Given the description of an element on the screen output the (x, y) to click on. 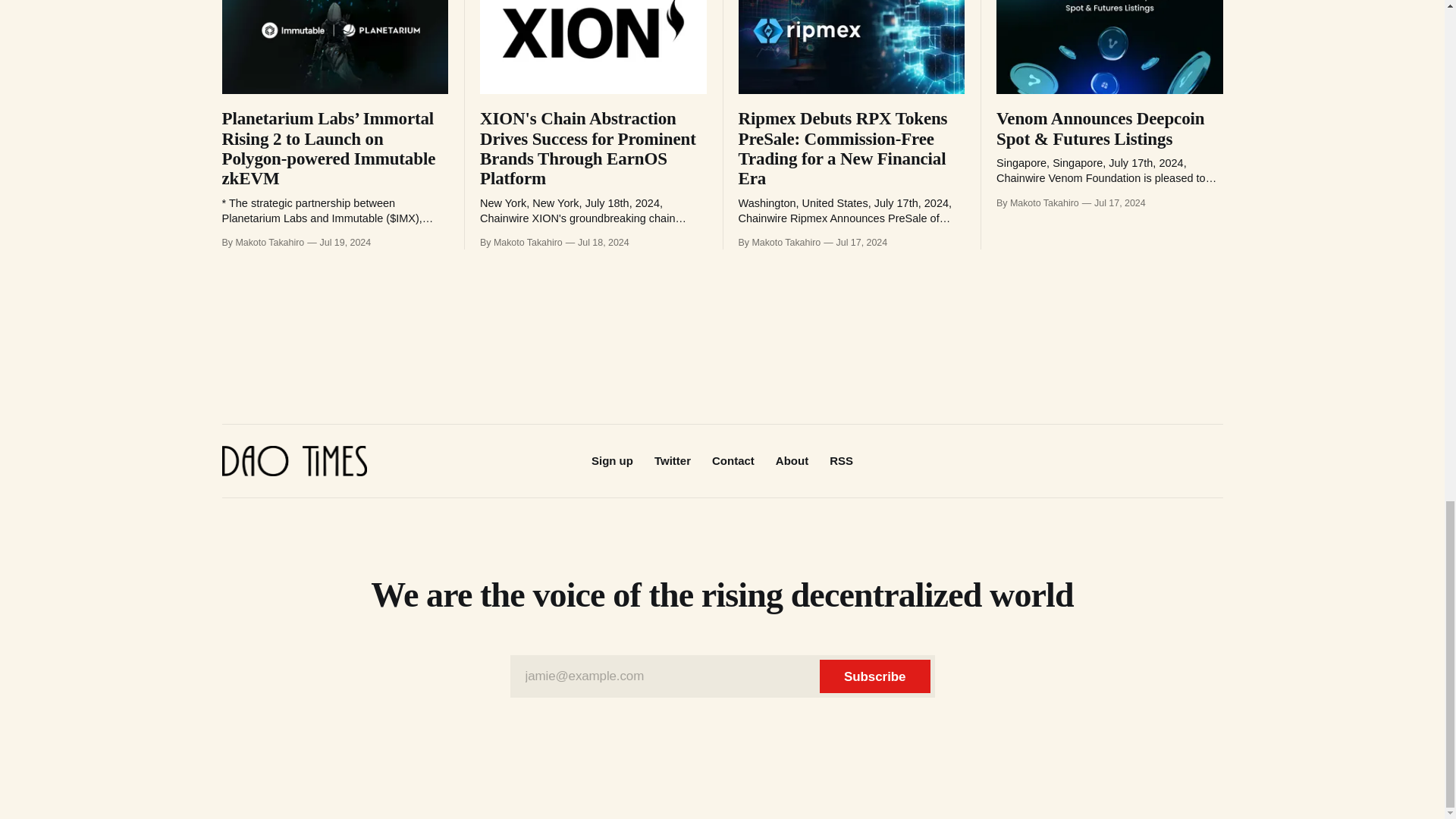
Twitter (671, 460)
Sign up (612, 460)
Subscribe (874, 676)
About (792, 460)
Contact (732, 460)
RSS (841, 460)
